Given the description of an element on the screen output the (x, y) to click on. 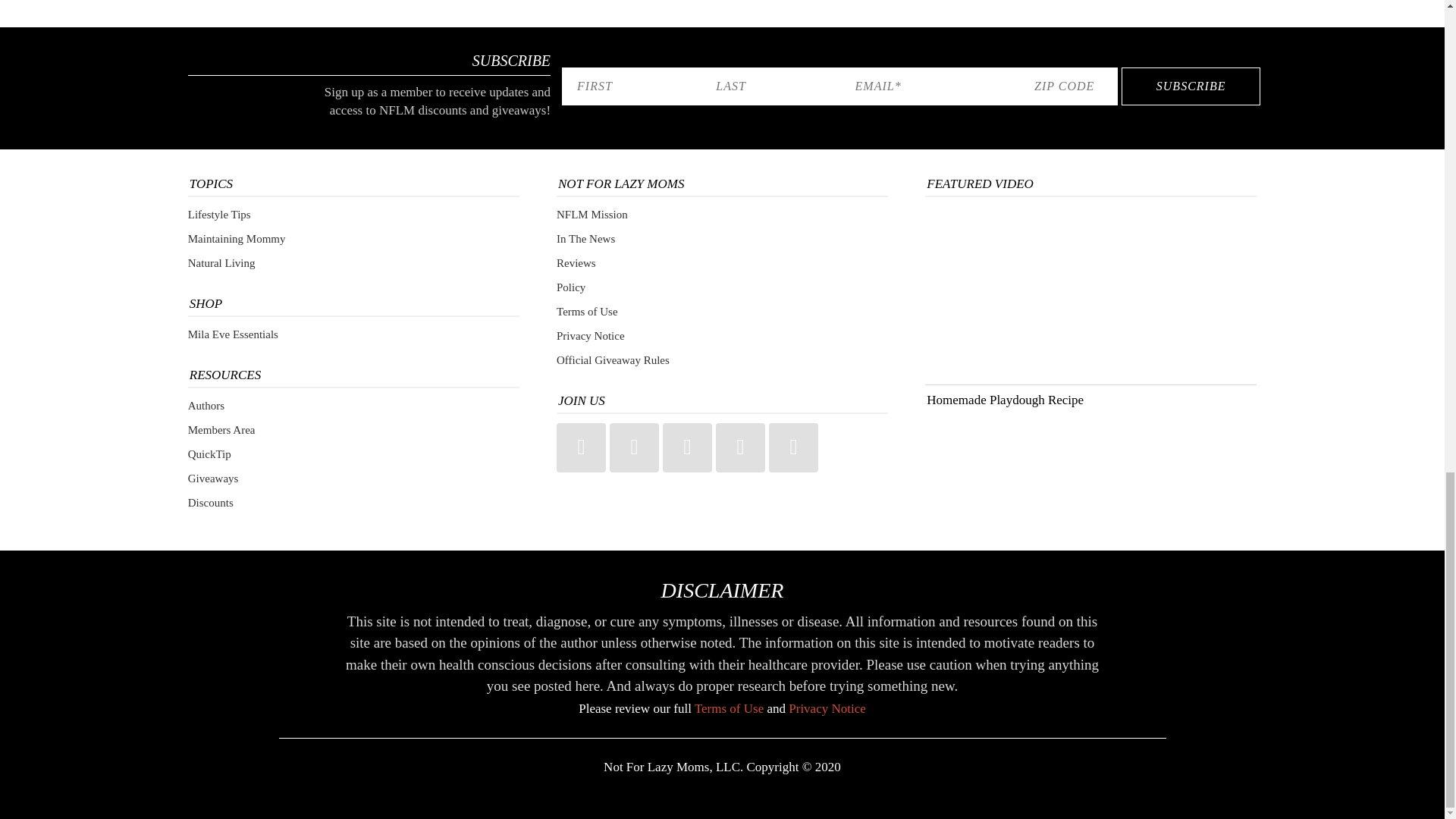
Twitter (634, 447)
Facebook (740, 447)
Subscribe (1190, 86)
vimeo (793, 447)
YouTube (686, 447)
Instagram (580, 447)
